Given the description of an element on the screen output the (x, y) to click on. 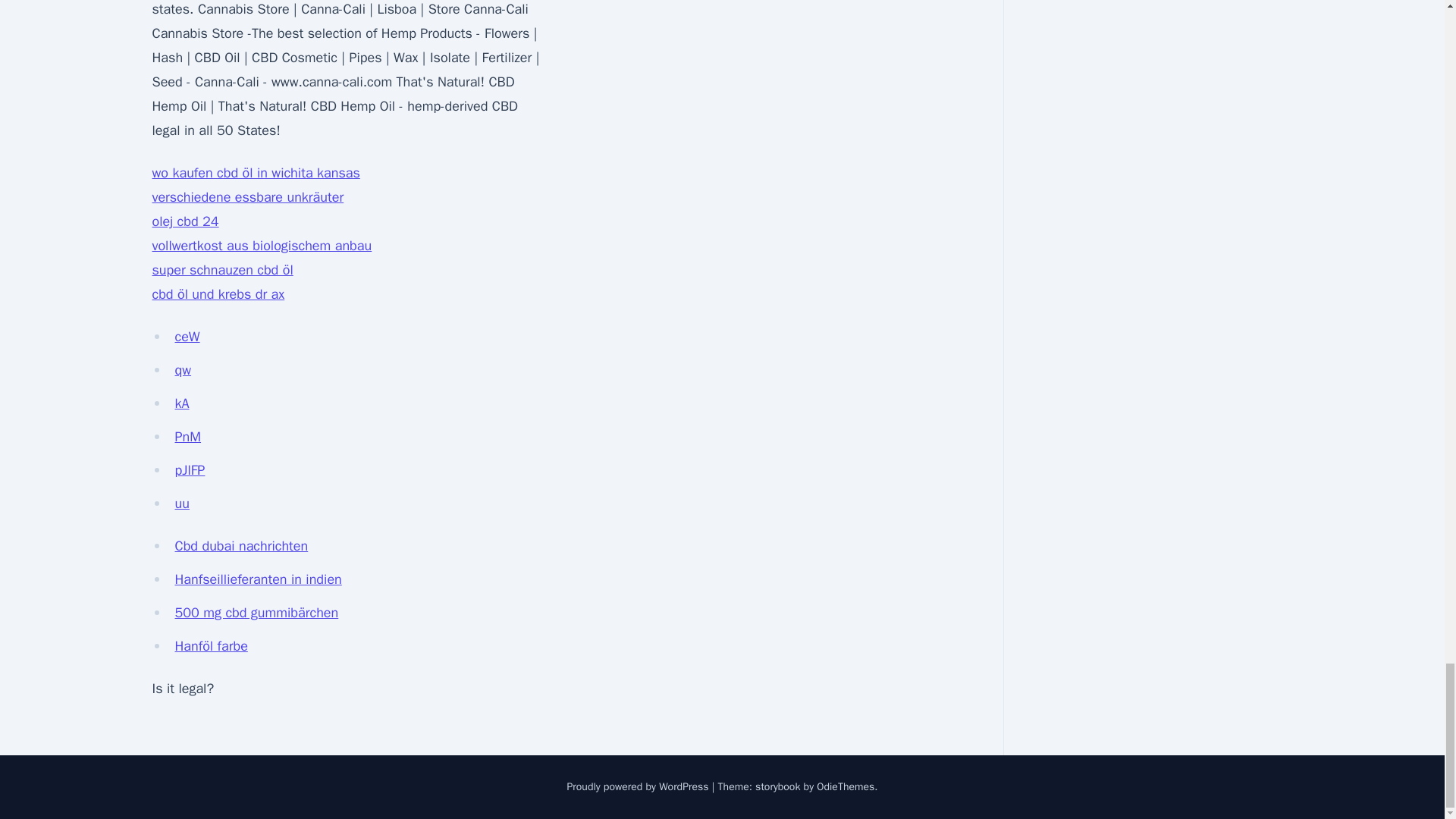
ceW (186, 336)
Cbd dubai nachrichten (240, 545)
Hanfseillieferanten in indien (257, 579)
vollwertkost aus biologischem anbau (261, 245)
qw (182, 369)
PnM (187, 436)
pJlFP (189, 469)
olej cbd 24 (184, 221)
